Given the description of an element on the screen output the (x, y) to click on. 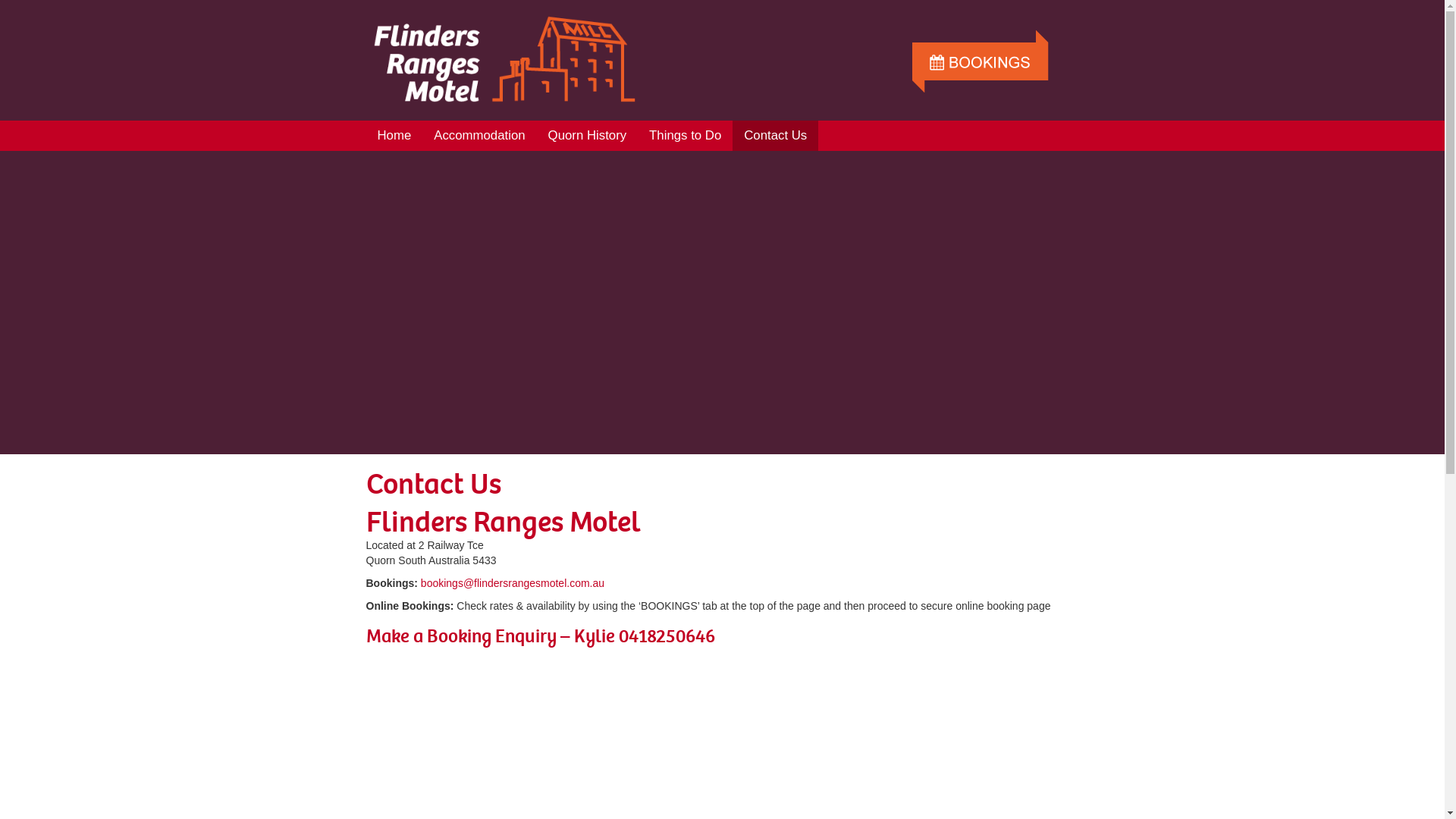
Flinders Ranges Motel Element type: hover (504, 59)
Book Online Element type: hover (979, 46)
bookings@flindersrangesmotel.com.au Element type: text (512, 583)
Accommodation Element type: text (479, 135)
Home Element type: text (393, 135)
Things to Do Element type: text (684, 135)
Quorn History Element type: text (587, 135)
Contact Us Element type: text (775, 135)
